Given the description of an element on the screen output the (x, y) to click on. 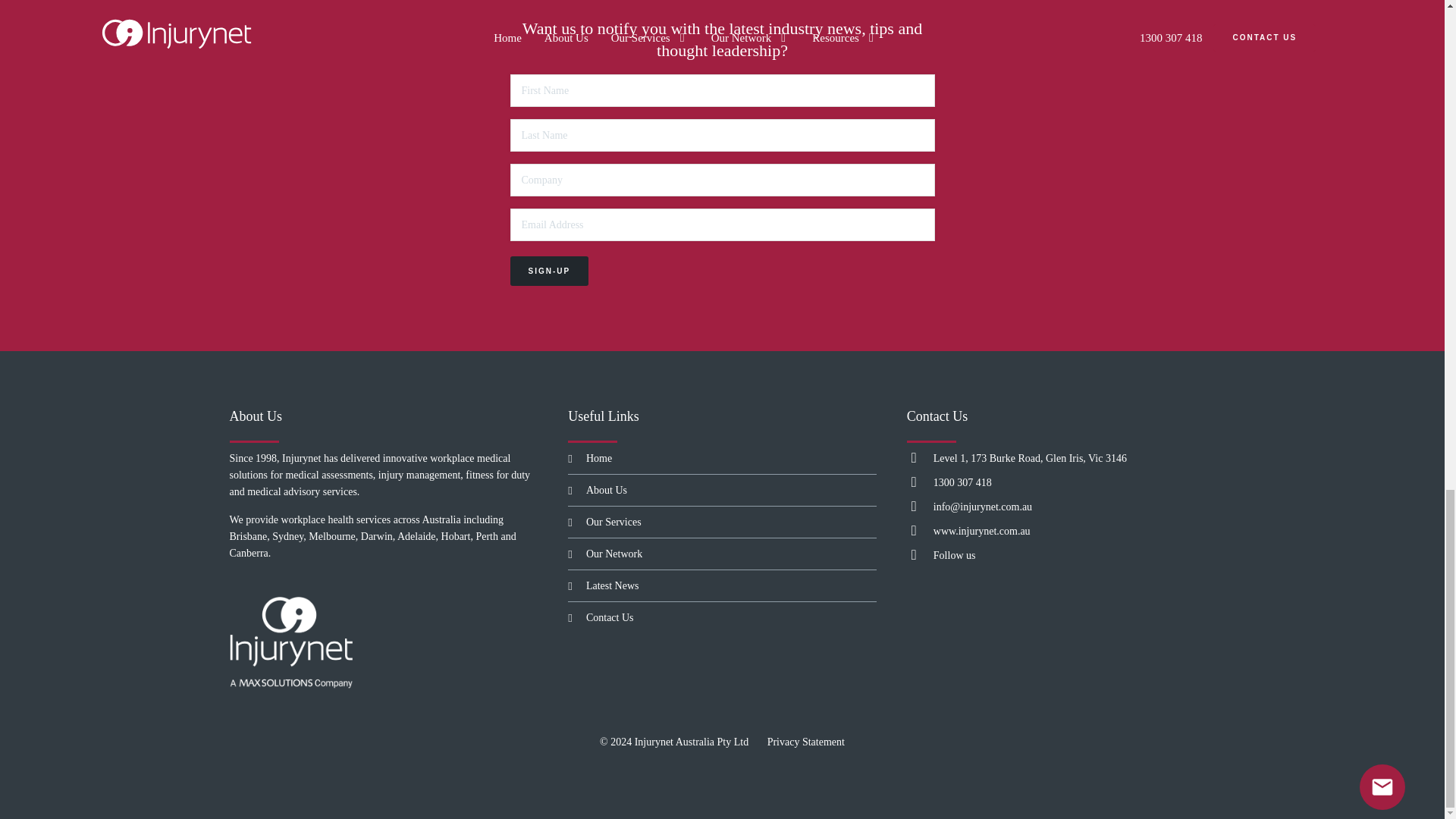
SIGN-UP (548, 270)
